Given the description of an element on the screen output the (x, y) to click on. 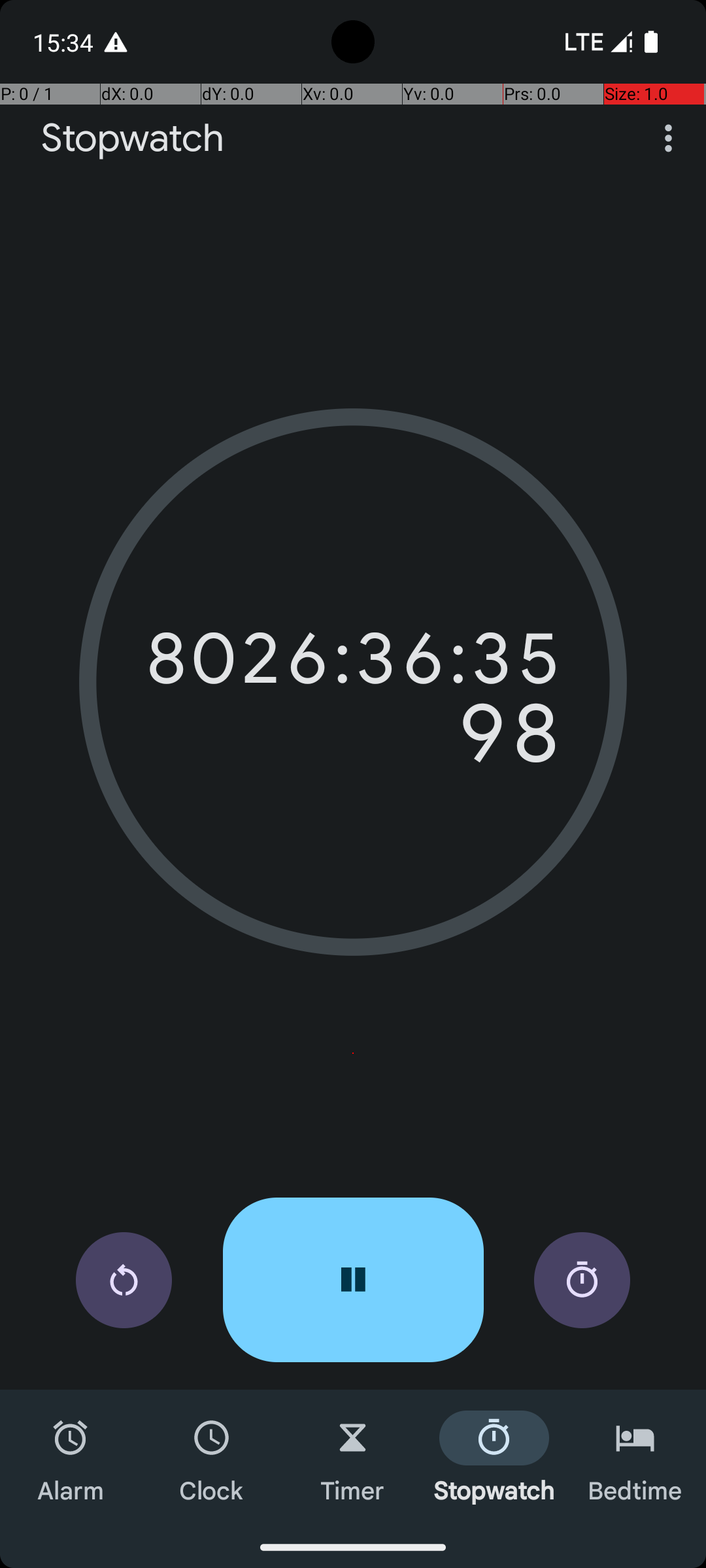
Pause Element type: android.widget.Button (352, 1279)
Lap Element type: android.widget.ImageButton (582, 1280)
8026:36:32 Element type: android.widget.TextView (352, 658)
